Given the description of an element on the screen output the (x, y) to click on. 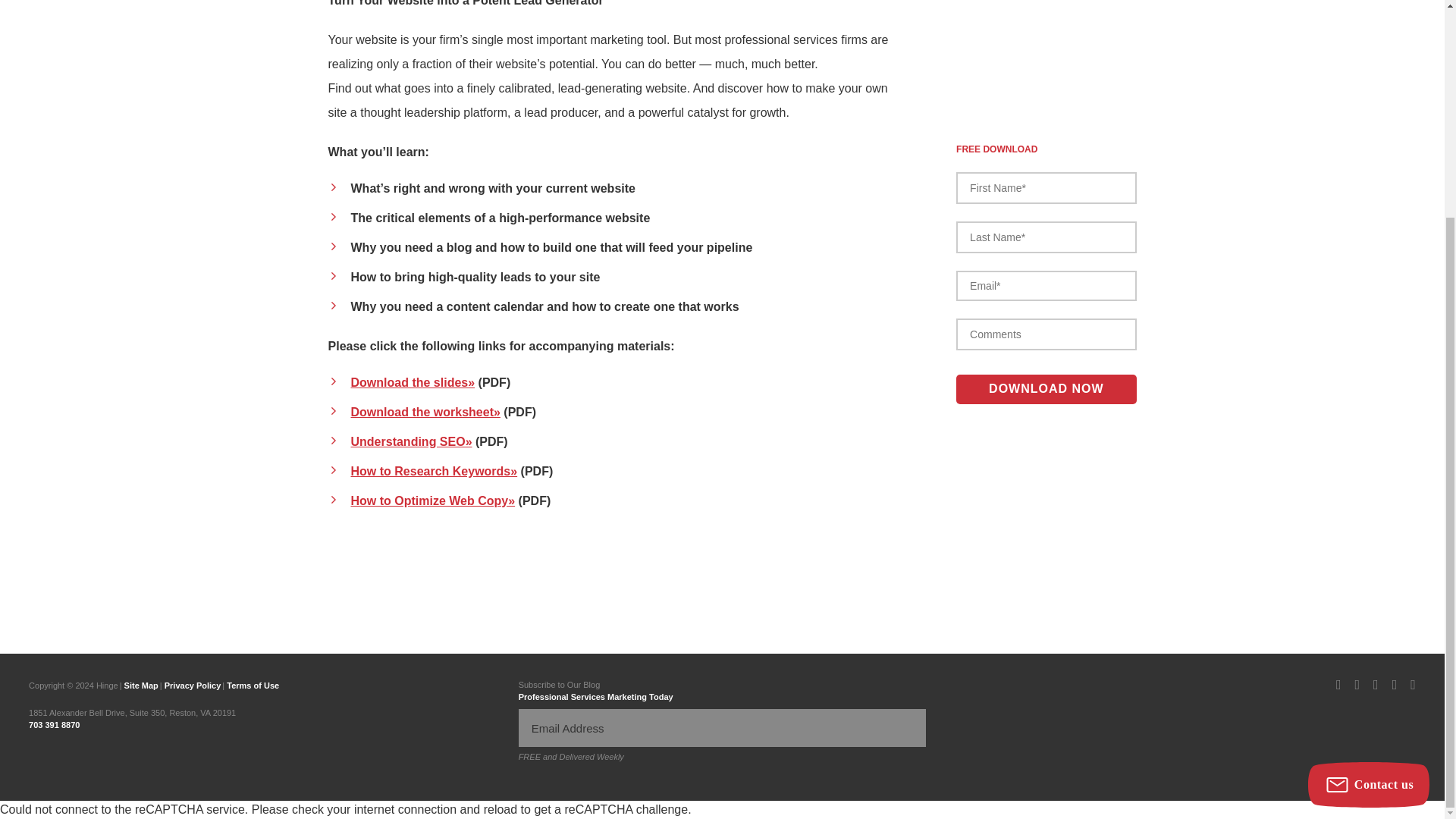
Download Now (1046, 102)
